Given the description of an element on the screen output the (x, y) to click on. 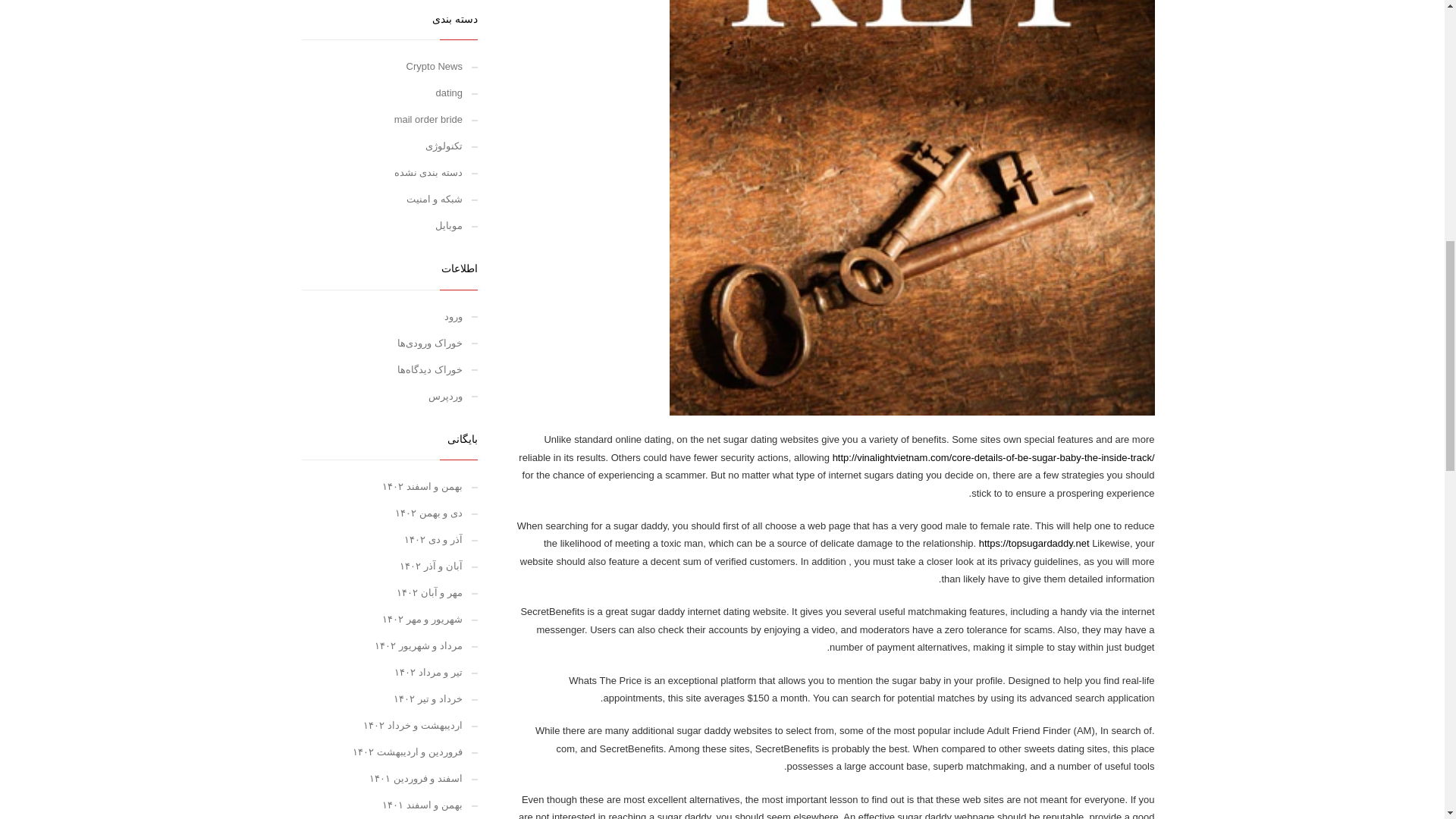
dating (390, 92)
Crypto News (390, 66)
mail order bride (390, 119)
